Given the description of an element on the screen output the (x, y) to click on. 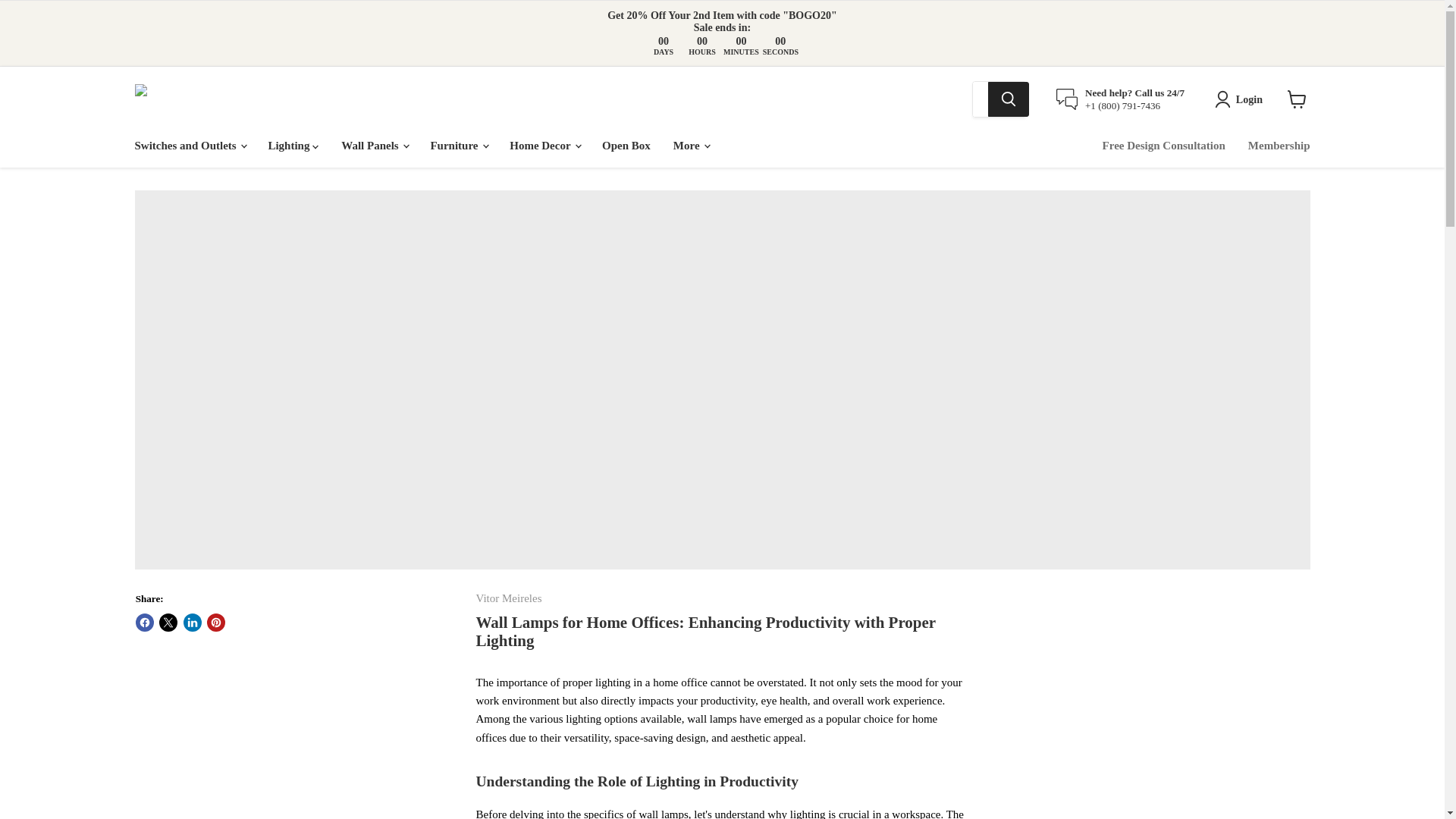
tel:18007917436 (1122, 105)
Login (1241, 99)
View cart (1296, 99)
